Given the description of an element on the screen output the (x, y) to click on. 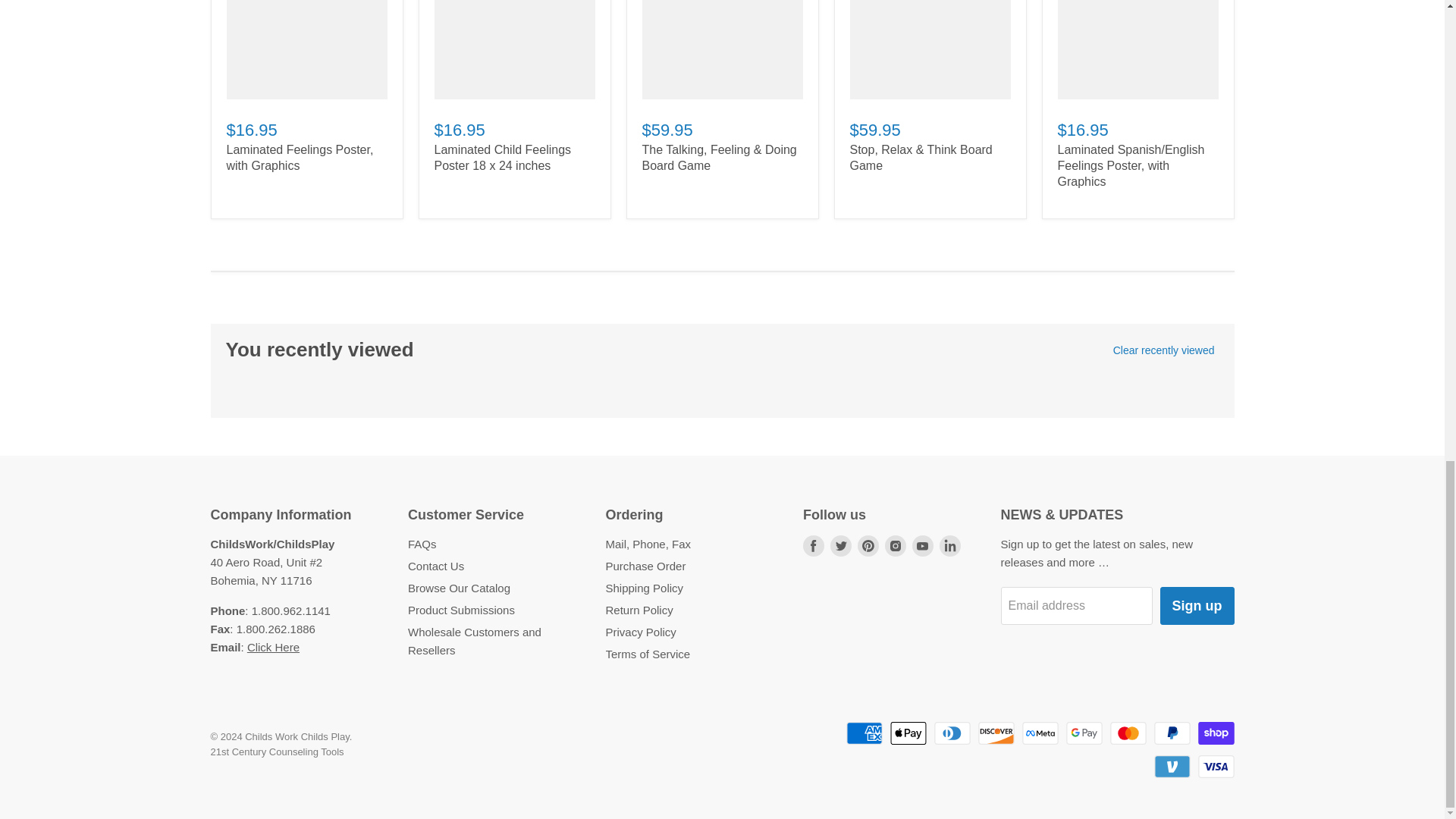
Instagram (895, 544)
Twitter (840, 544)
LinkedIn (949, 544)
Contact Us (273, 645)
Facebook (813, 544)
Youtube (922, 544)
Pinterest (868, 544)
American Express (863, 732)
